Given the description of an element on the screen output the (x, y) to click on. 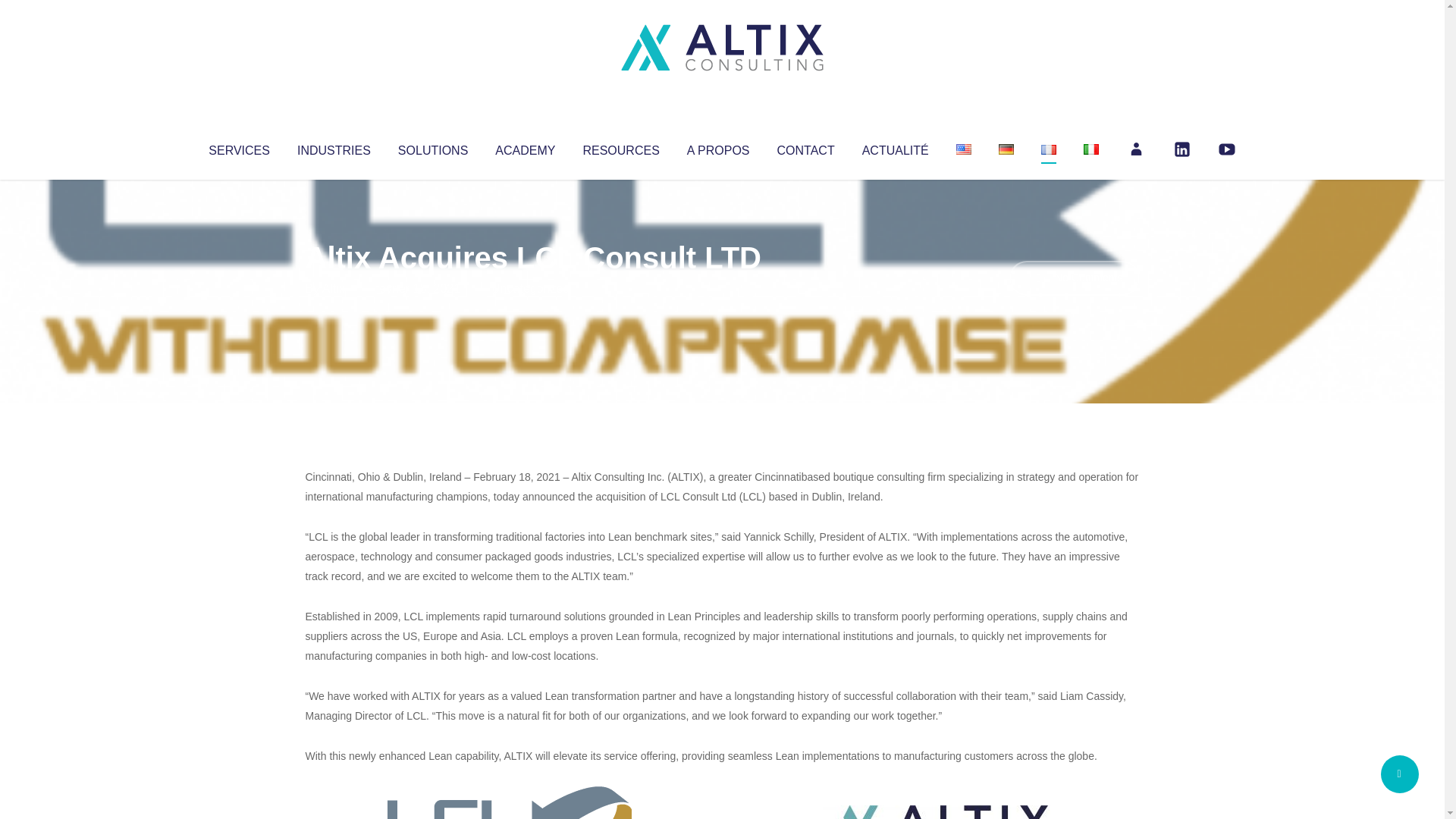
SERVICES (238, 146)
RESOURCES (620, 146)
Articles par Altix (333, 287)
Uncategorized (530, 287)
Altix (333, 287)
INDUSTRIES (334, 146)
SOLUTIONS (432, 146)
No Comments (1073, 278)
A PROPOS (718, 146)
ACADEMY (524, 146)
